Given the description of an element on the screen output the (x, y) to click on. 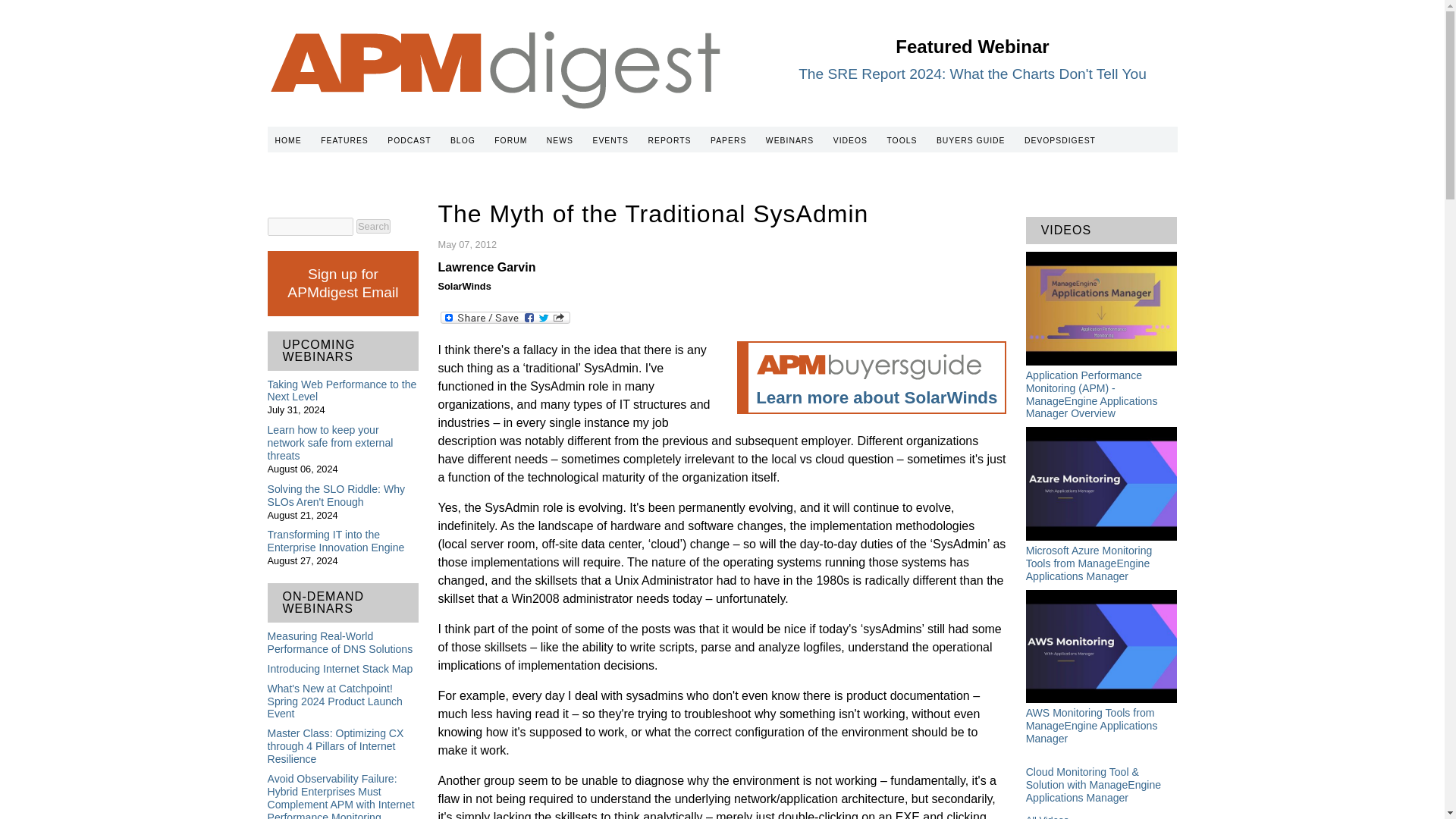
Search (373, 226)
Home (494, 116)
The SRE Report 2024: What the Charts Don't Tell You (972, 73)
Enter the terms you wish to search for. (309, 226)
